Given the description of an element on the screen output the (x, y) to click on. 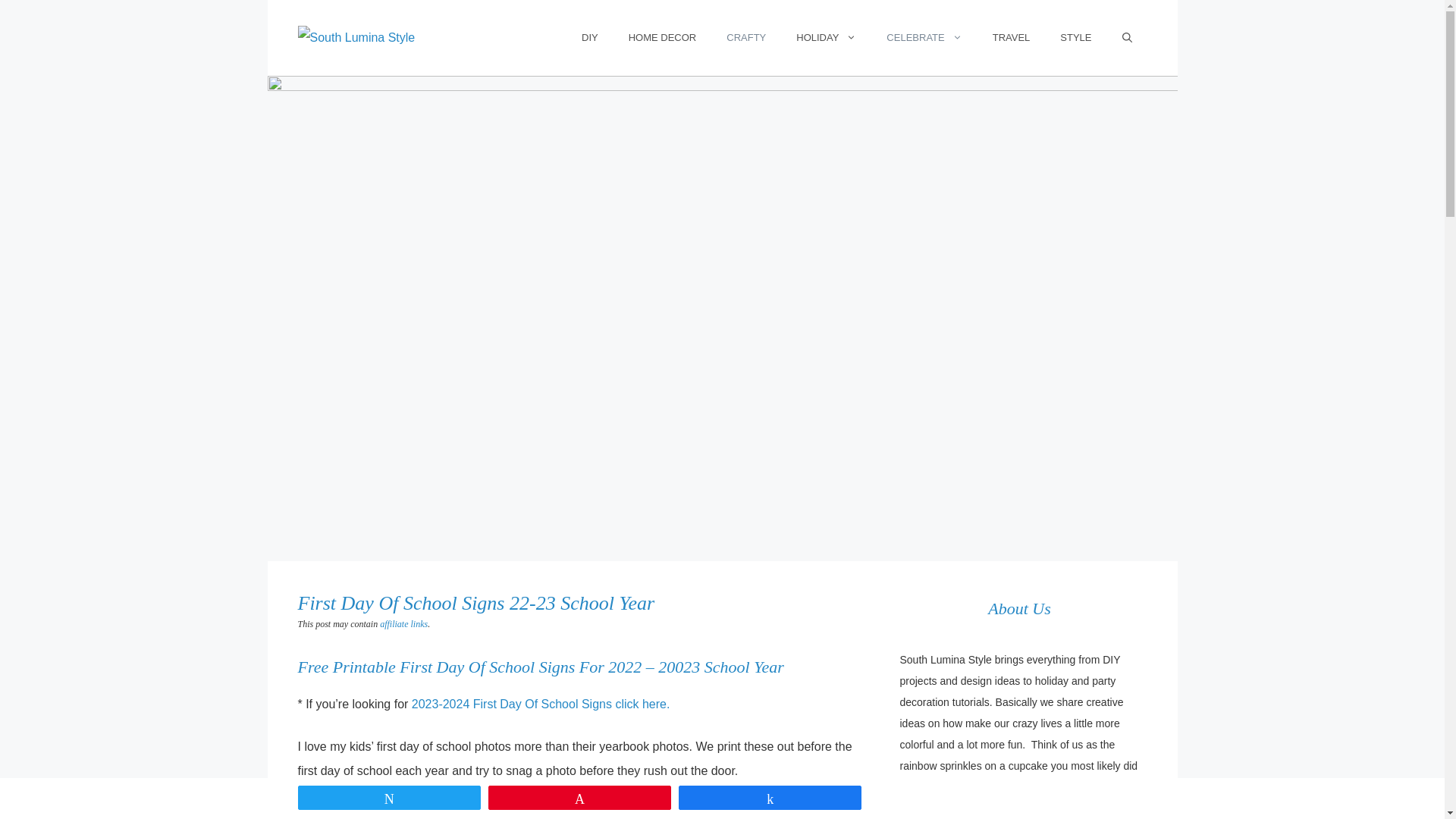
affiliate links (404, 624)
HOLIDAY (825, 37)
STYLE (1075, 37)
DIY (589, 37)
CELEBRATE (923, 37)
2023-2024 First Day Of School Signs click here. (540, 703)
CRAFTY (745, 37)
HOME DECOR (661, 37)
TRAVEL (1010, 37)
